Given the description of an element on the screen output the (x, y) to click on. 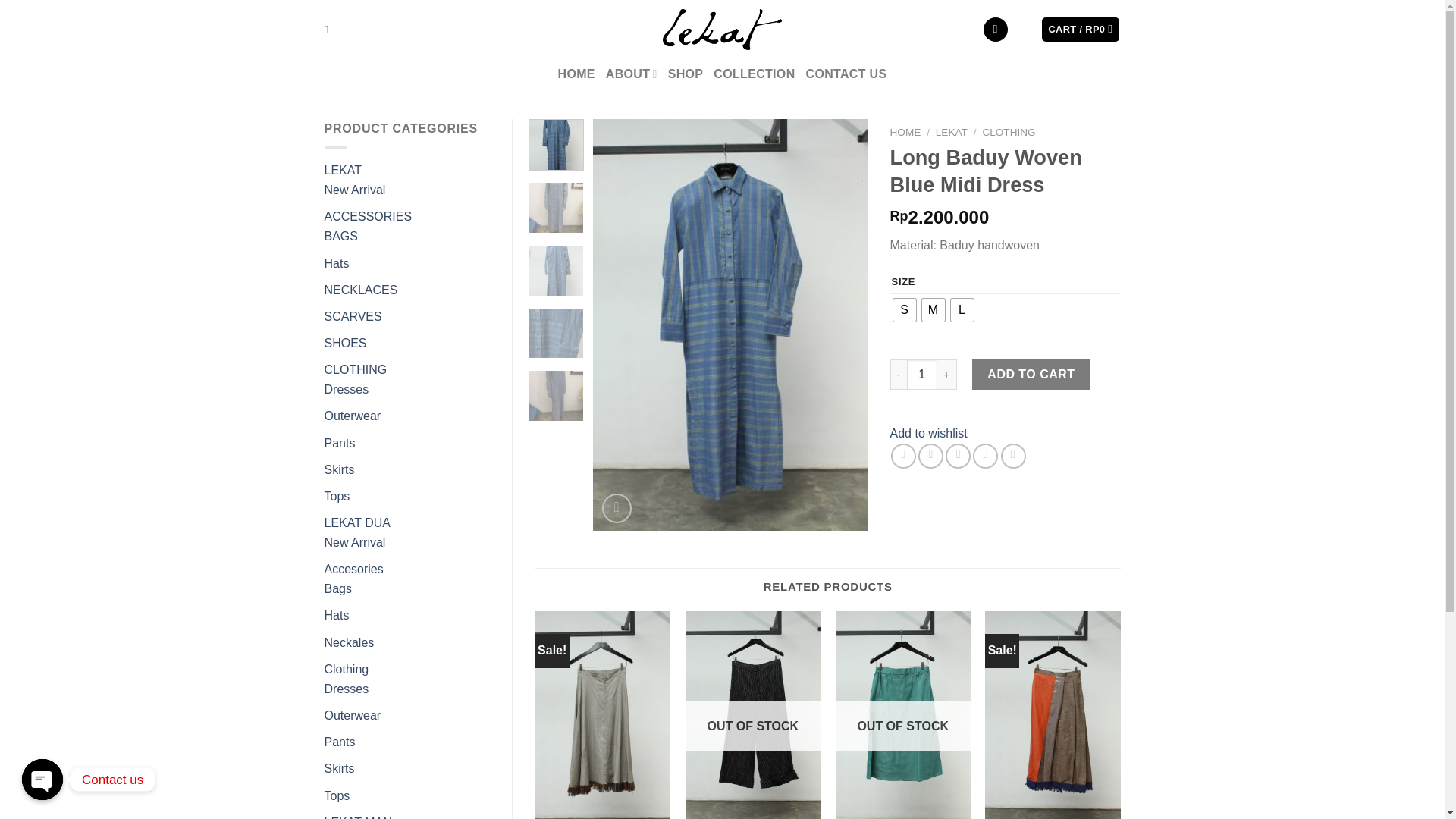
LEKAT (343, 169)
CLOTHING (355, 369)
Hats (336, 263)
1 (922, 374)
Pants (339, 442)
LEKAT - Unique Fashion Style, Tenun Baduy (722, 29)
SHOES (345, 342)
SCARVES (352, 316)
BAGS (341, 236)
ACCESSORIES (368, 215)
New Arrival (354, 189)
CONTACT US (846, 73)
S (904, 309)
M (932, 309)
Dresses (346, 389)
